Given the description of an element on the screen output the (x, y) to click on. 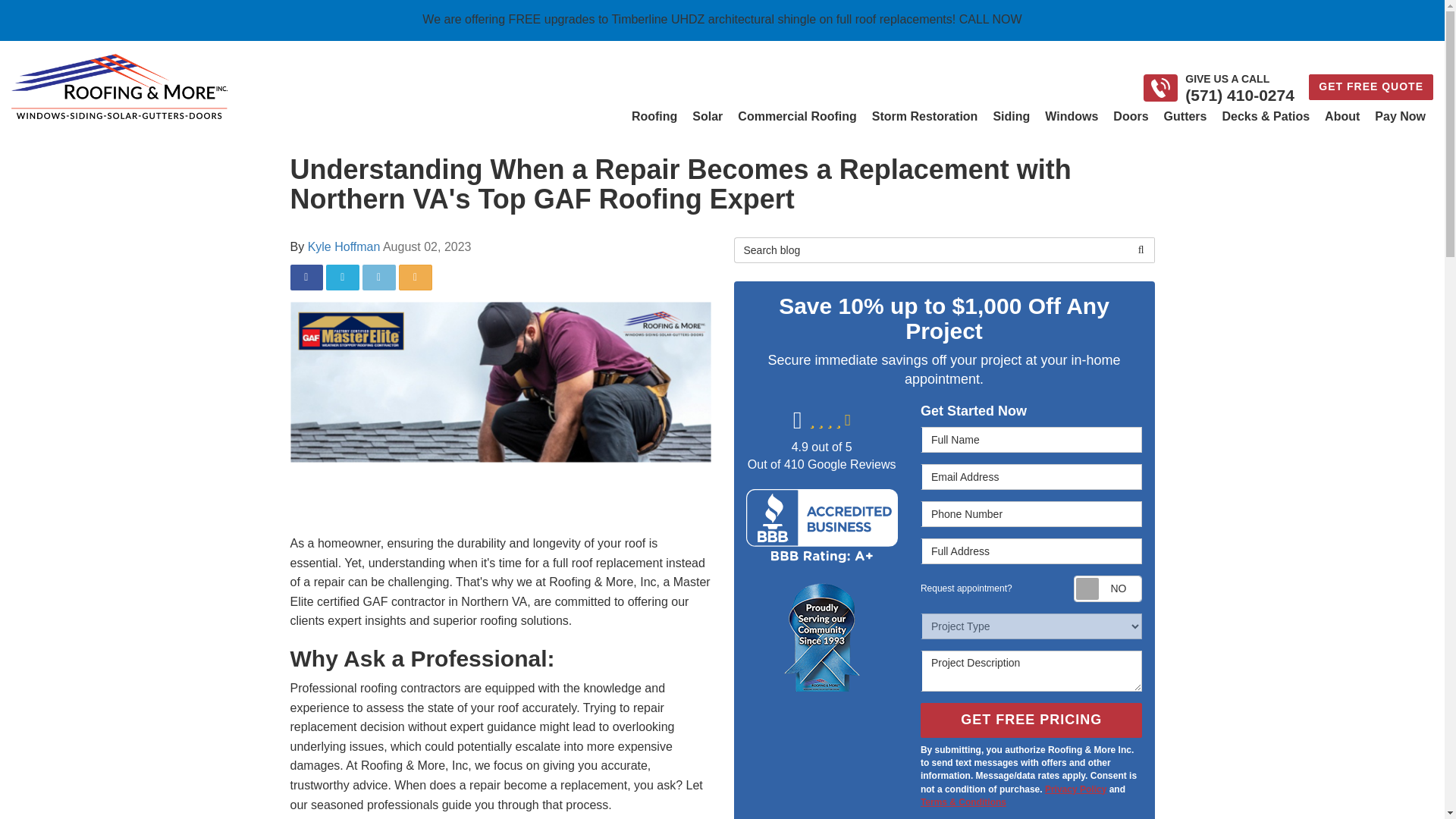
Commercial Roofing (796, 116)
Storm Restoration (924, 116)
Siding (1010, 116)
Roofing (654, 116)
Doors (1130, 116)
GET FREE QUOTE (1370, 86)
GET FREE QUOTE (1370, 86)
Windows (1070, 116)
Solar (707, 116)
Gutters (1185, 116)
